Given the description of an element on the screen output the (x, y) to click on. 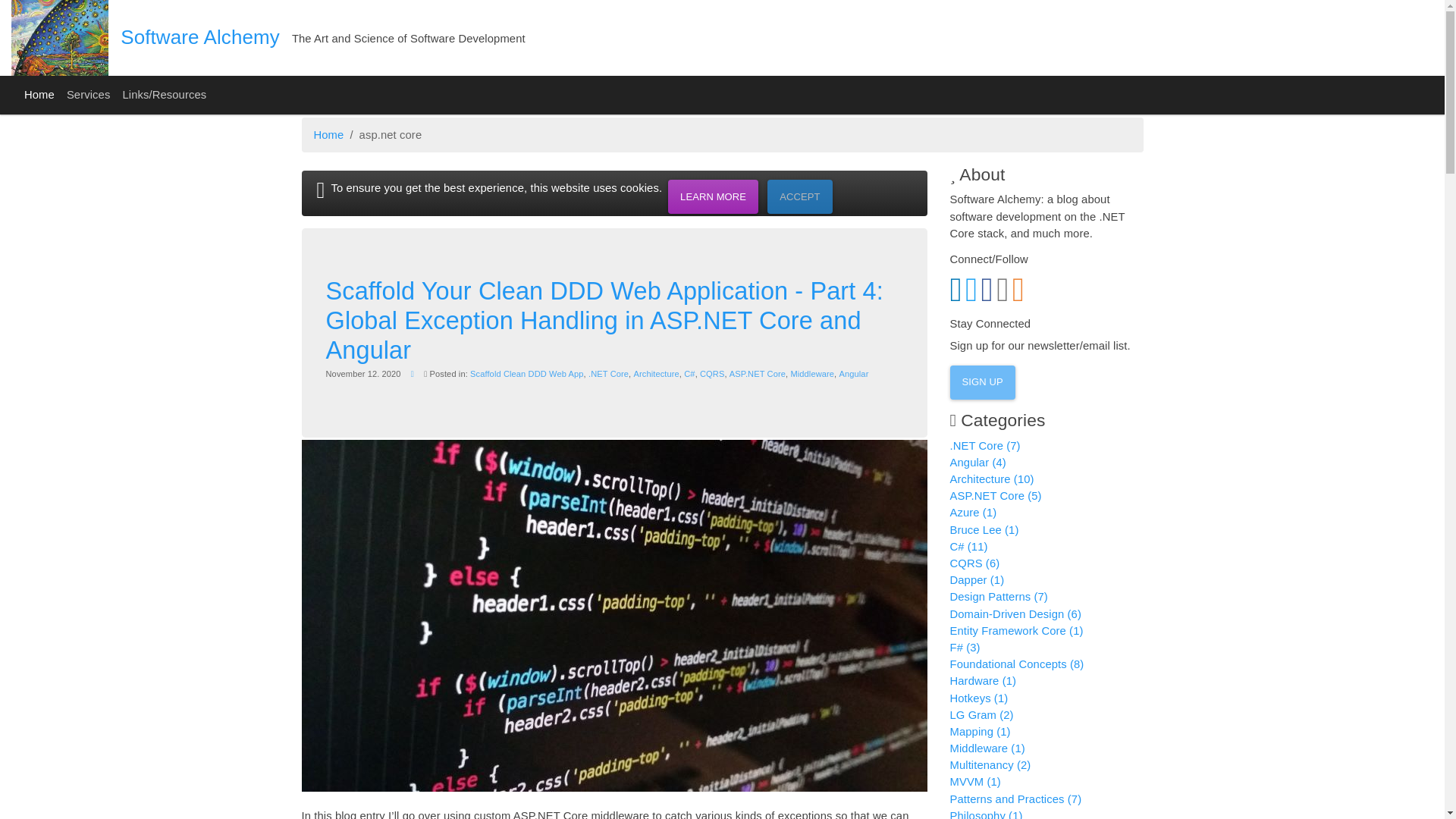
Software Alchemy (199, 36)
LEARN MORE (713, 196)
ASP.NET Core (757, 373)
CQRS (711, 373)
Home (328, 134)
.NET Core (608, 373)
Scaffold Clean DDD Web App (526, 373)
ACCEPT (799, 196)
Architecture (655, 373)
Services (88, 95)
Angular (852, 373)
Middleware (812, 373)
Home (39, 95)
